Given the description of an element on the screen output the (x, y) to click on. 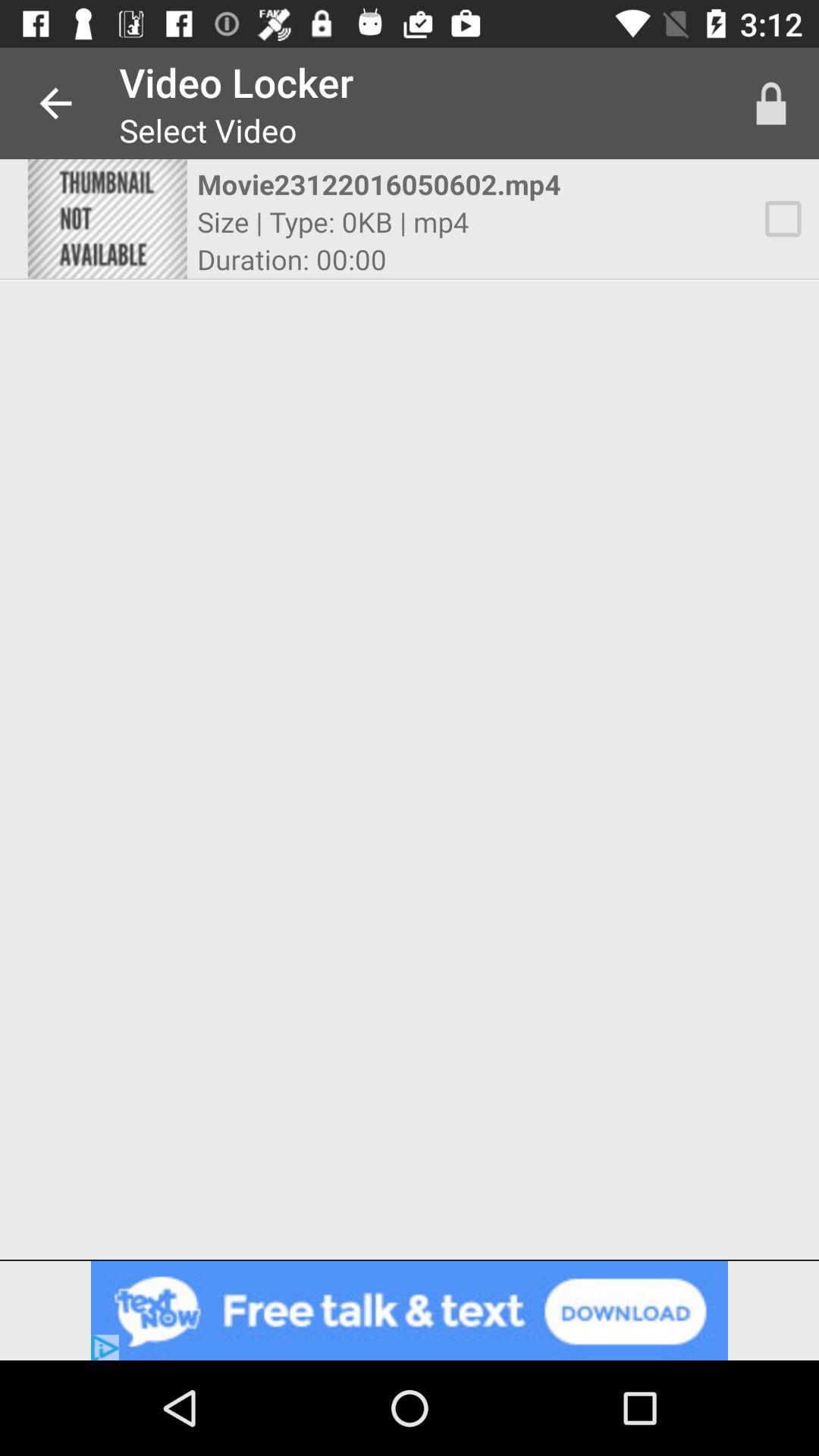
choose item next to movie23122016050602.mp4 icon (107, 218)
